Given the description of an element on the screen output the (x, y) to click on. 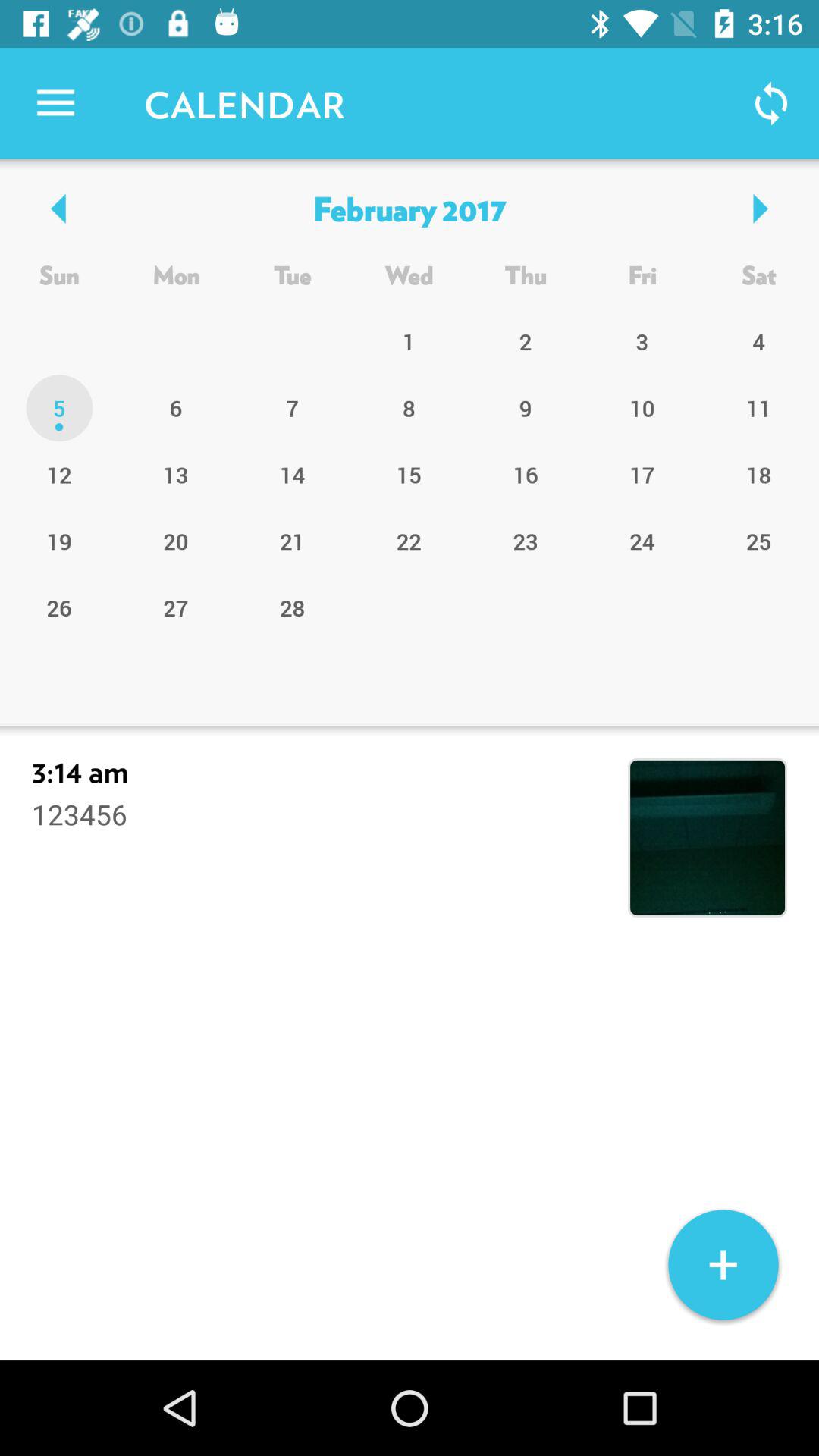
turn off item to the left of the calendar (55, 103)
